Given the description of an element on the screen output the (x, y) to click on. 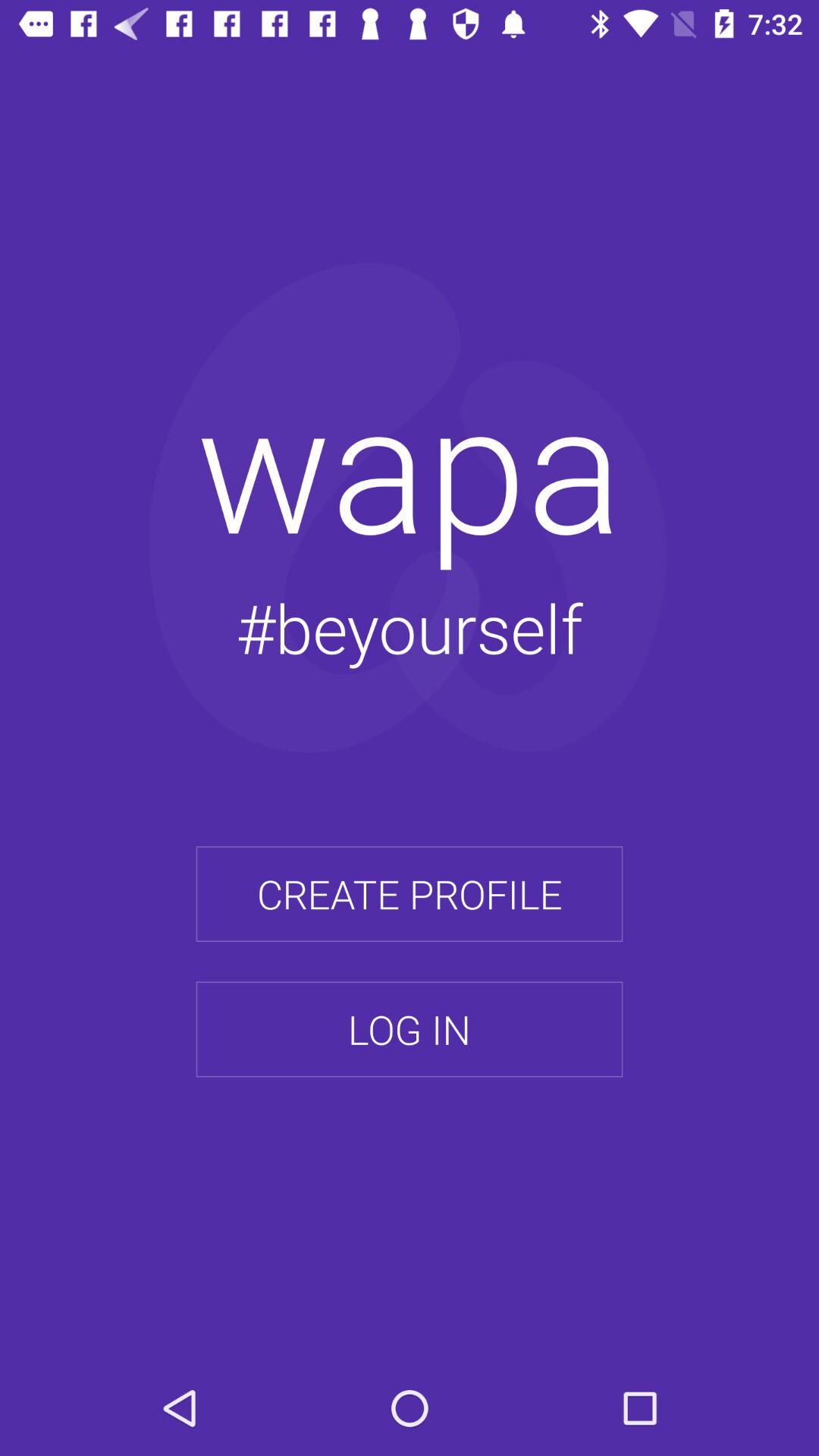
launch the log in (409, 1029)
